Given the description of an element on the screen output the (x, y) to click on. 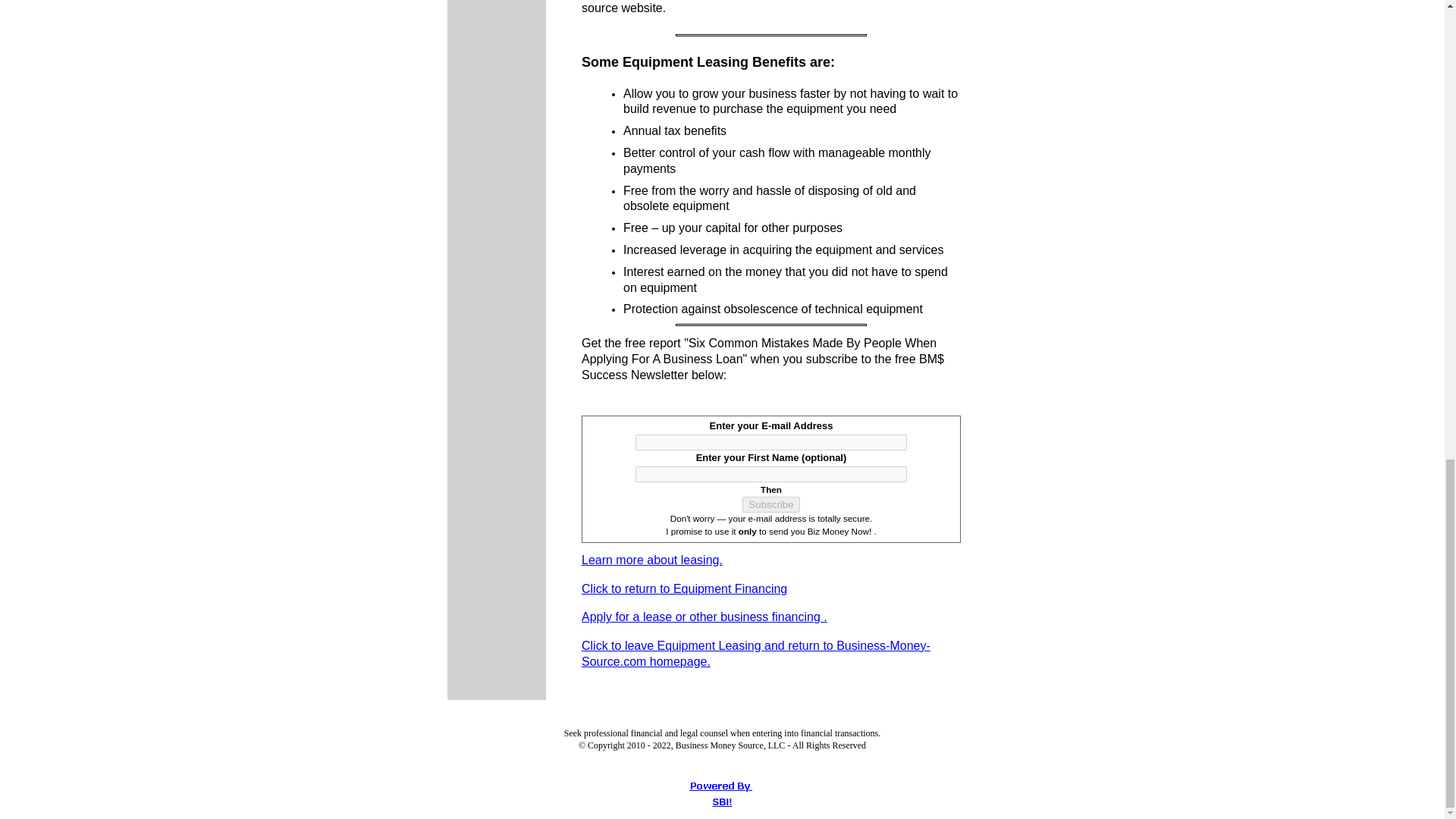
Learn more about leasing. (651, 560)
SBI! (722, 801)
Advertisement (844, 9)
Apply for a lease or other business financing (702, 616)
Subscribe (770, 504)
Click to return to Equipment Financing (683, 589)
